Given the description of an element on the screen output the (x, y) to click on. 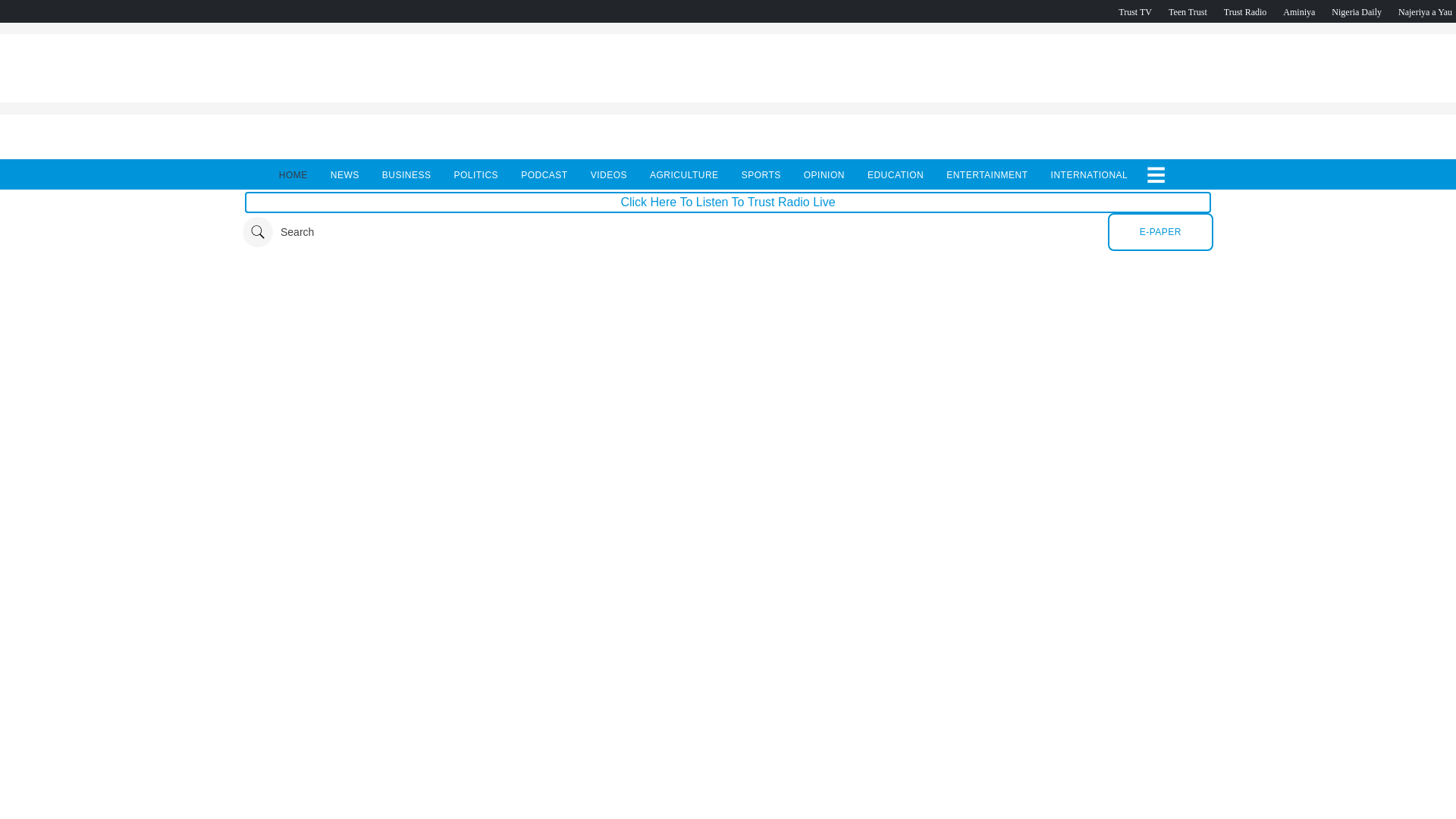
Teen Trust (1188, 11)
Dailytrust (727, 231)
E-Paper Subscription (1160, 231)
Trust TV (1134, 11)
Teen Trust (1188, 11)
HOME (293, 174)
Trust Radio (1245, 11)
Aminiya (1298, 11)
Nigeria Daily (1356, 11)
Podcast (1356, 11)
